Given the description of an element on the screen output the (x, y) to click on. 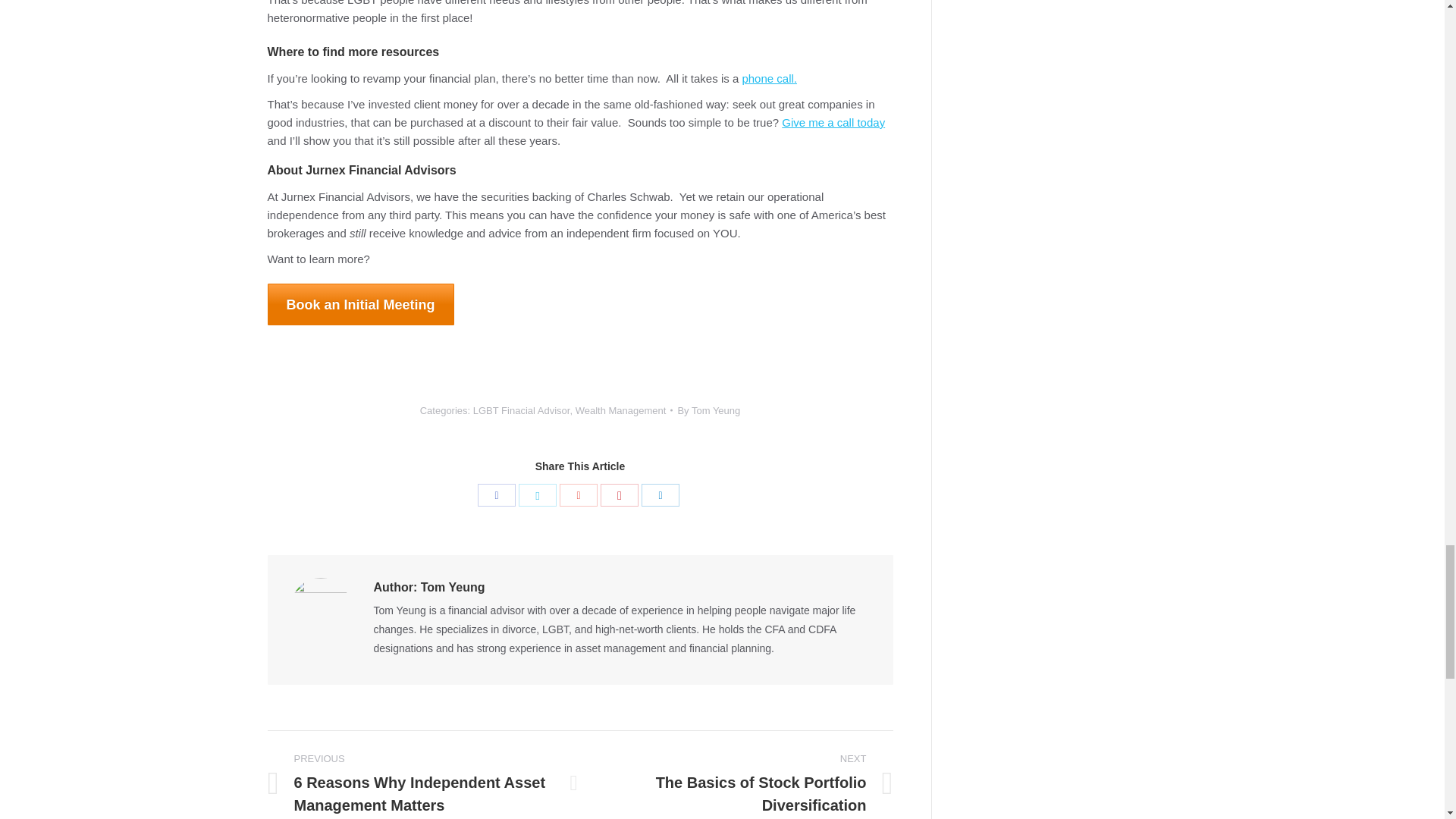
Facebook (496, 495)
View all posts by Tom Yeung (708, 410)
Twitter (537, 495)
LinkedIn (660, 495)
Pinterest (619, 495)
